Given the description of an element on the screen output the (x, y) to click on. 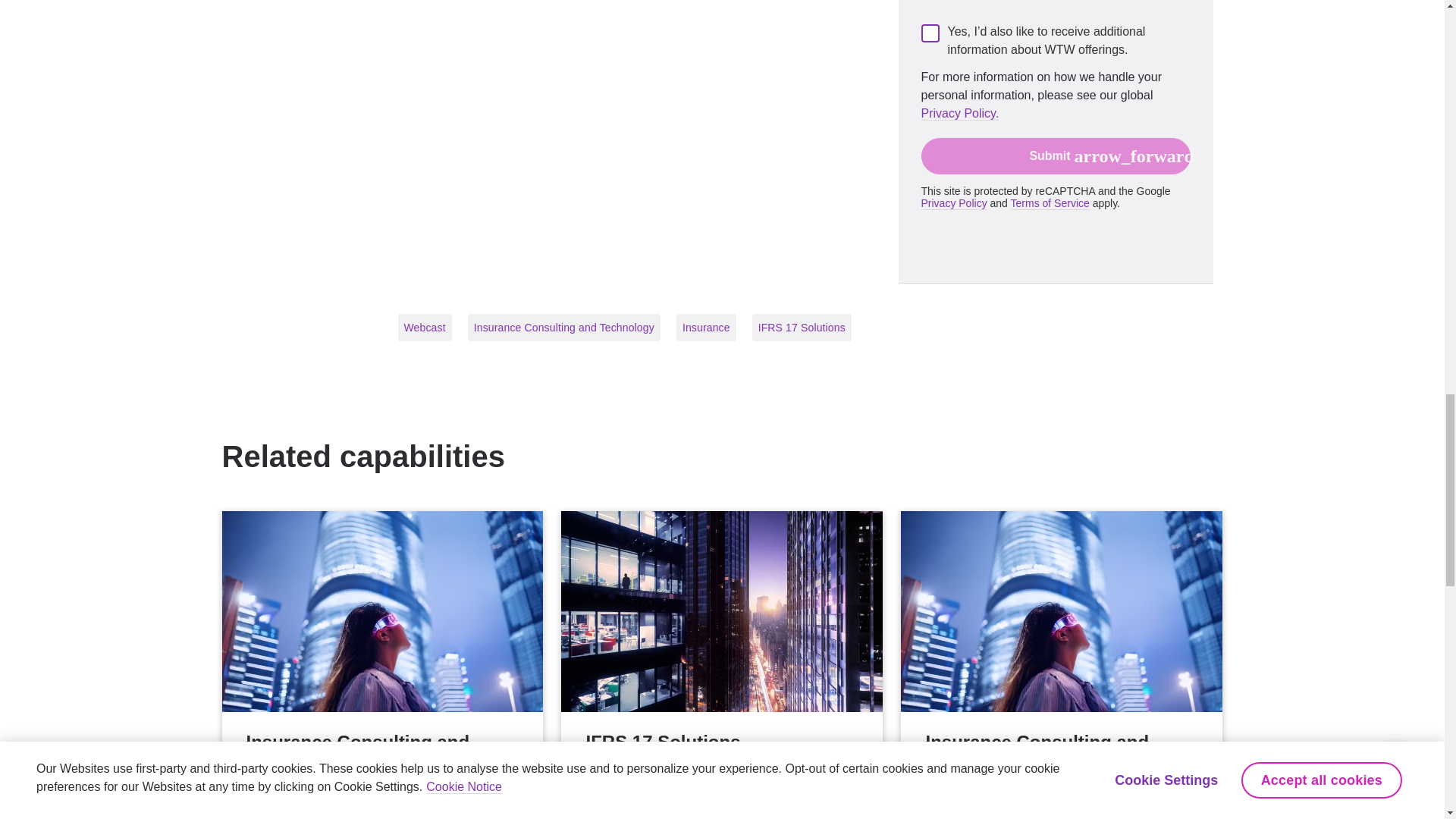
Insurance Consulting and Technology (382, 664)
Insurance Consulting and Technology (1062, 664)
IFRS 17 Solutions (721, 664)
